Given the description of an element on the screen output the (x, y) to click on. 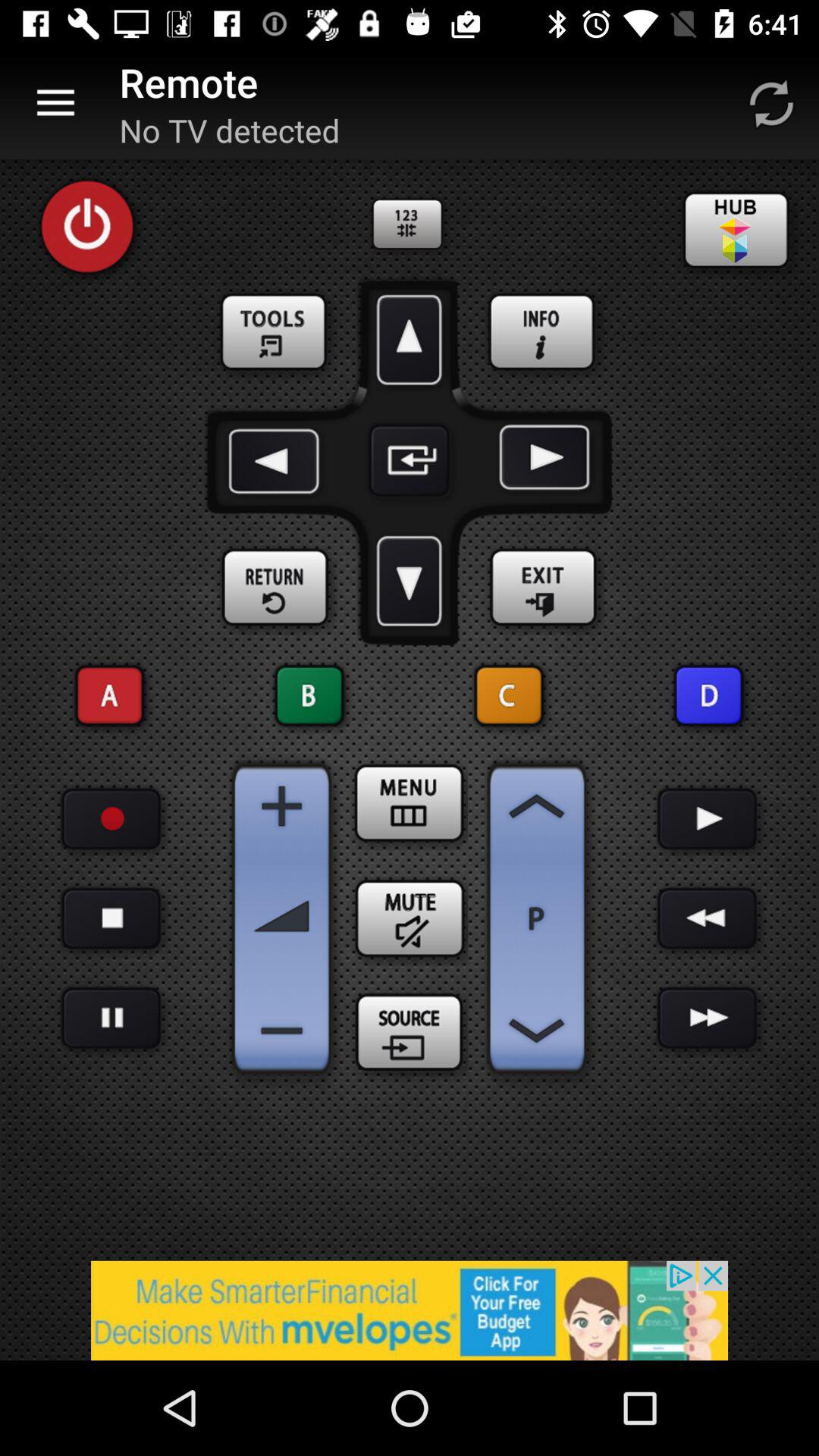
show more info (542, 332)
